Given the description of an element on the screen output the (x, y) to click on. 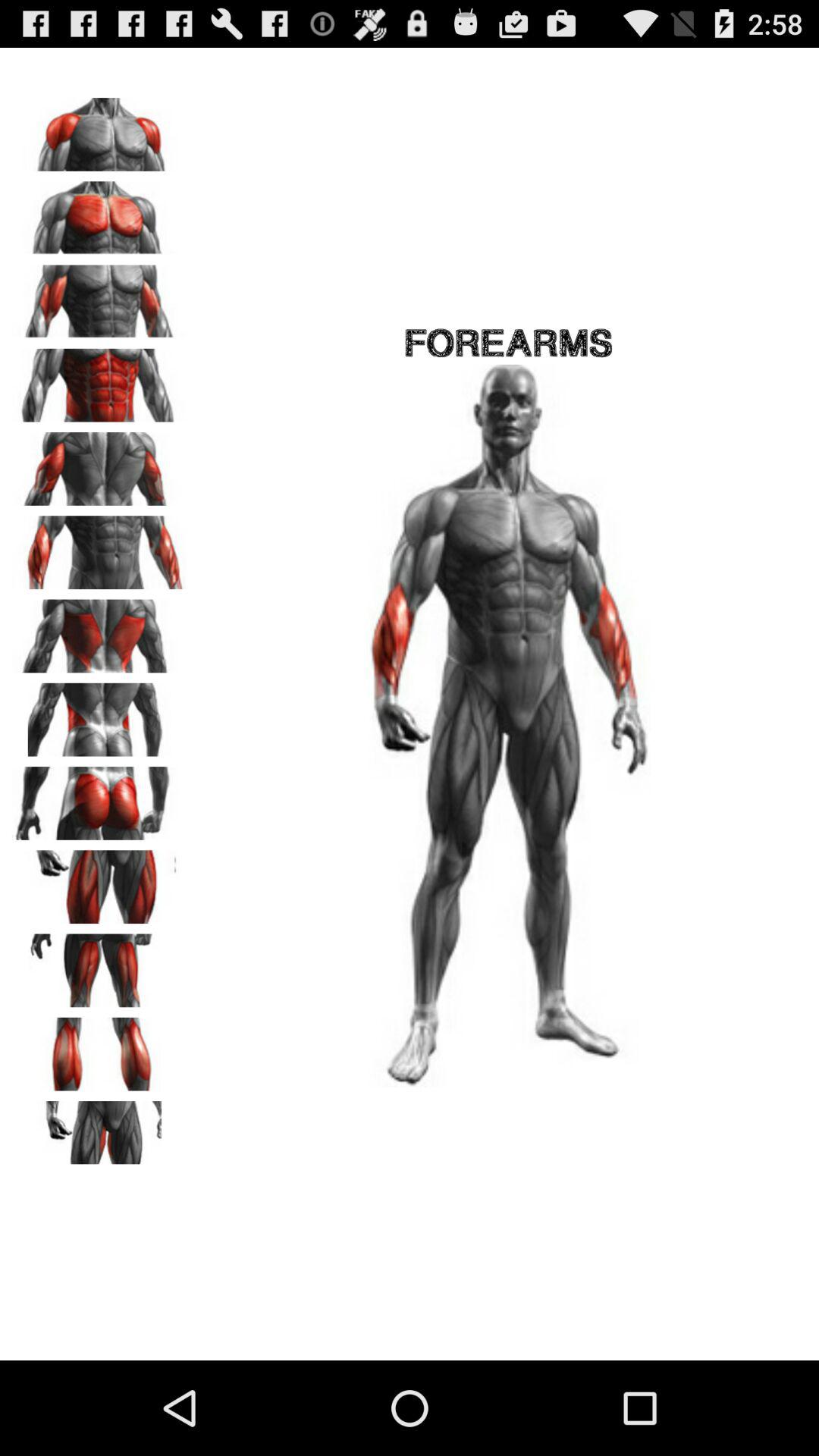
choose front hip muscles (99, 881)
